Given the description of an element on the screen output the (x, y) to click on. 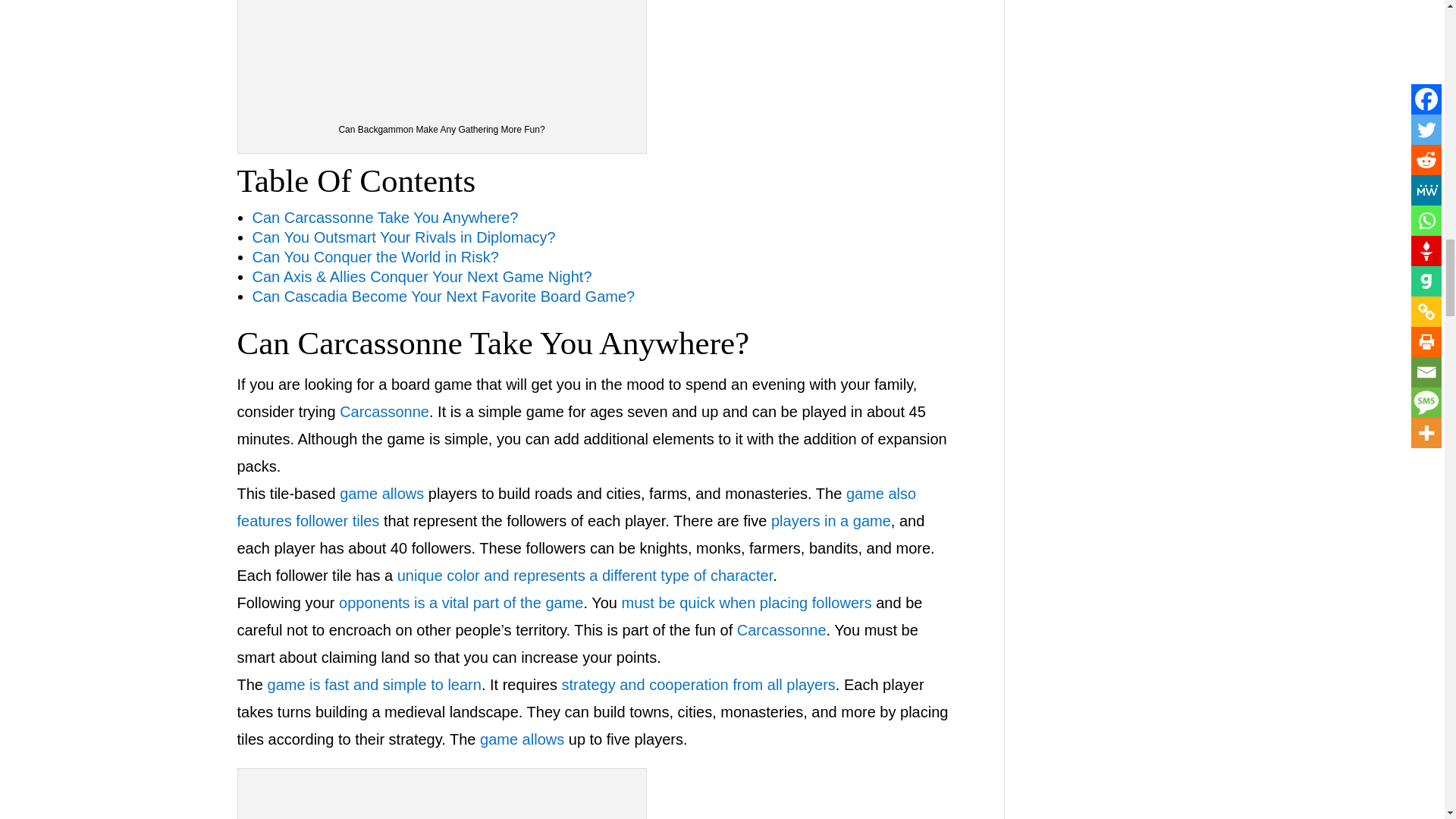
game also features follower tiles (575, 507)
Can You Outsmart Your Rivals in Diplomacy? (402, 237)
opponents is a vital part of the game (461, 602)
unique color and represents a different type of character (585, 575)
Can You Conquer the World in Risk? (374, 256)
Can Carcassonne Take You Anywhere? (442, 796)
Can Cascadia Become Your Next Favorite Board Game? (442, 296)
Carcassonne (384, 411)
Can Carcassonne Take You Anywhere? (384, 217)
must be quick when placing followers (746, 602)
players in a game (831, 520)
game allows (381, 493)
Can Backgammon Make Any Gathering More Fun? (442, 53)
Can Carcassonne Take You Anywhere? (492, 343)
